Given the description of an element on the screen output the (x, y) to click on. 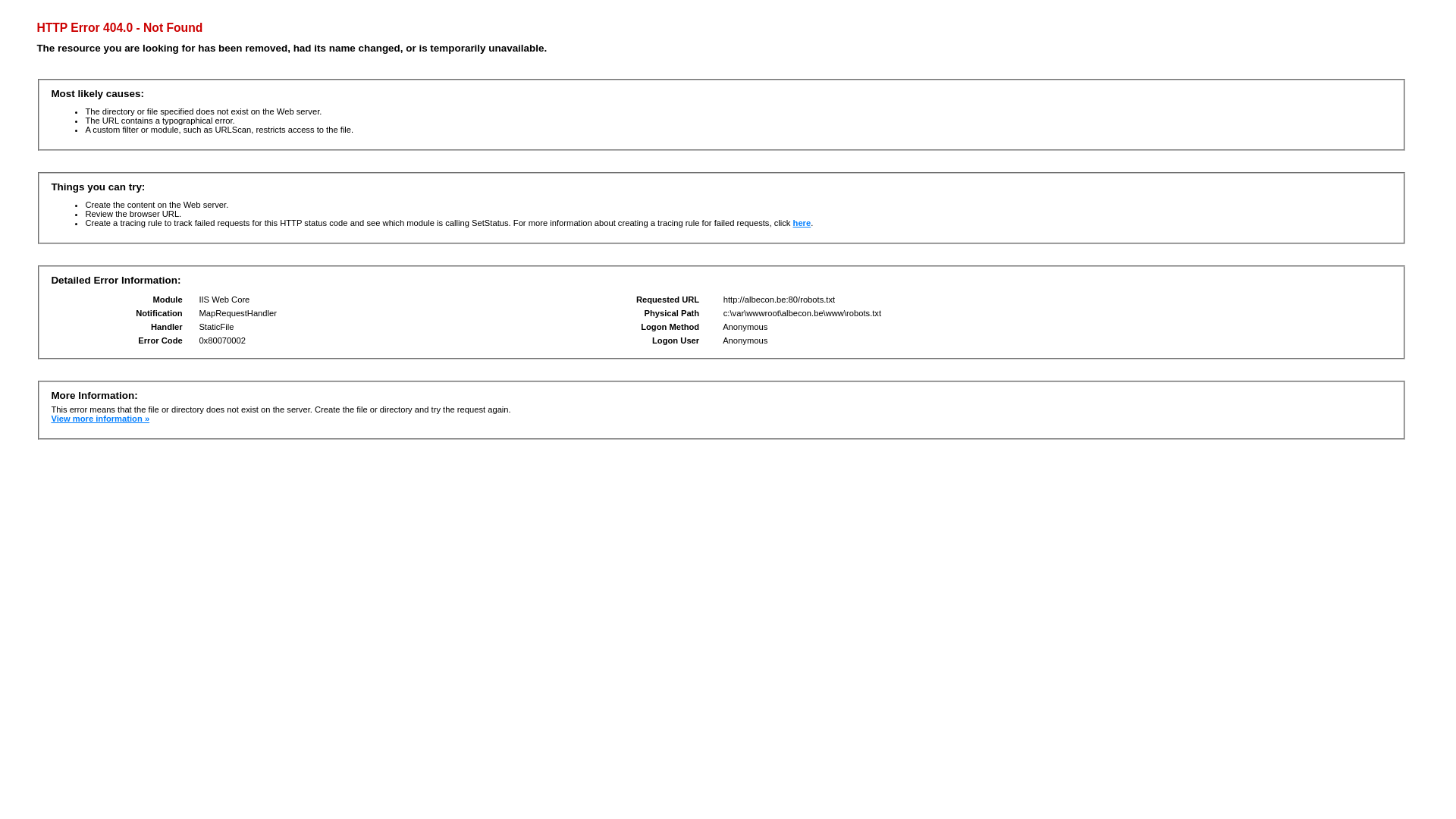
here Element type: text (802, 222)
